Given the description of an element on the screen output the (x, y) to click on. 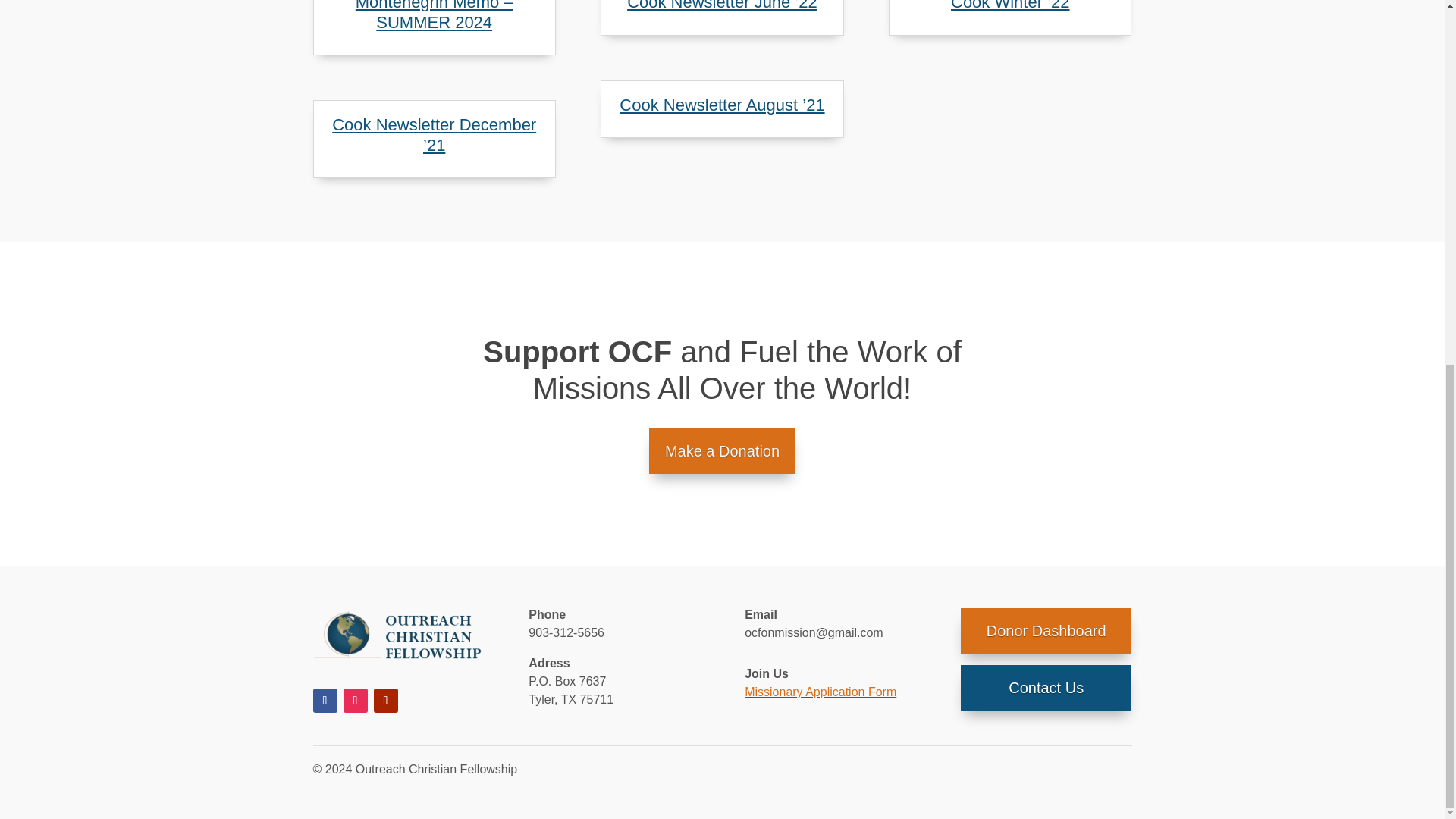
Follow on Facebook (324, 700)
Follow on Instagram (354, 700)
OCF New Logo Transparent (398, 635)
Follow on Youtube (384, 700)
